Given the description of an element on the screen output the (x, y) to click on. 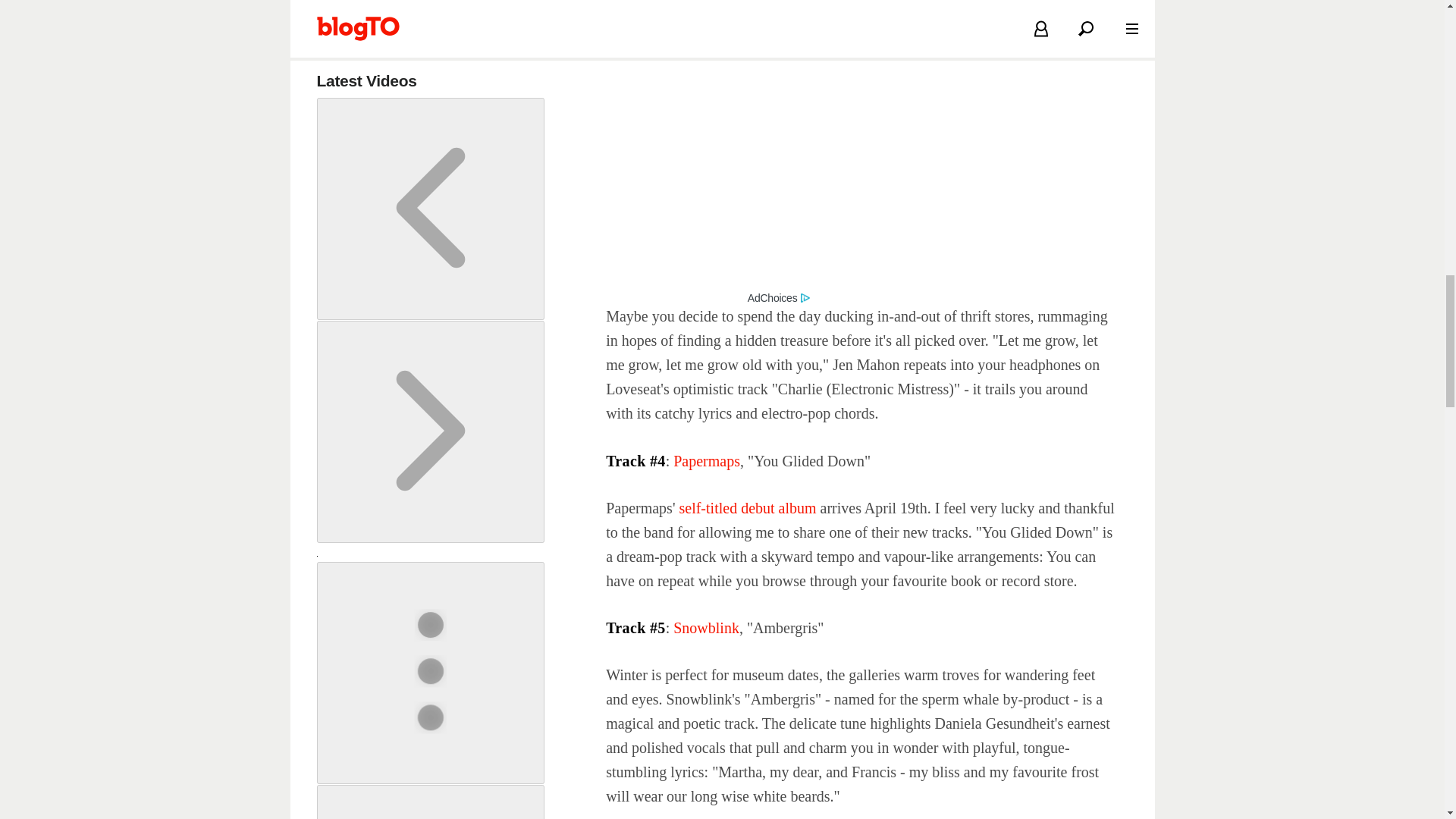
Subscribe (352, 5)
ad content (861, 182)
